Given the description of an element on the screen output the (x, y) to click on. 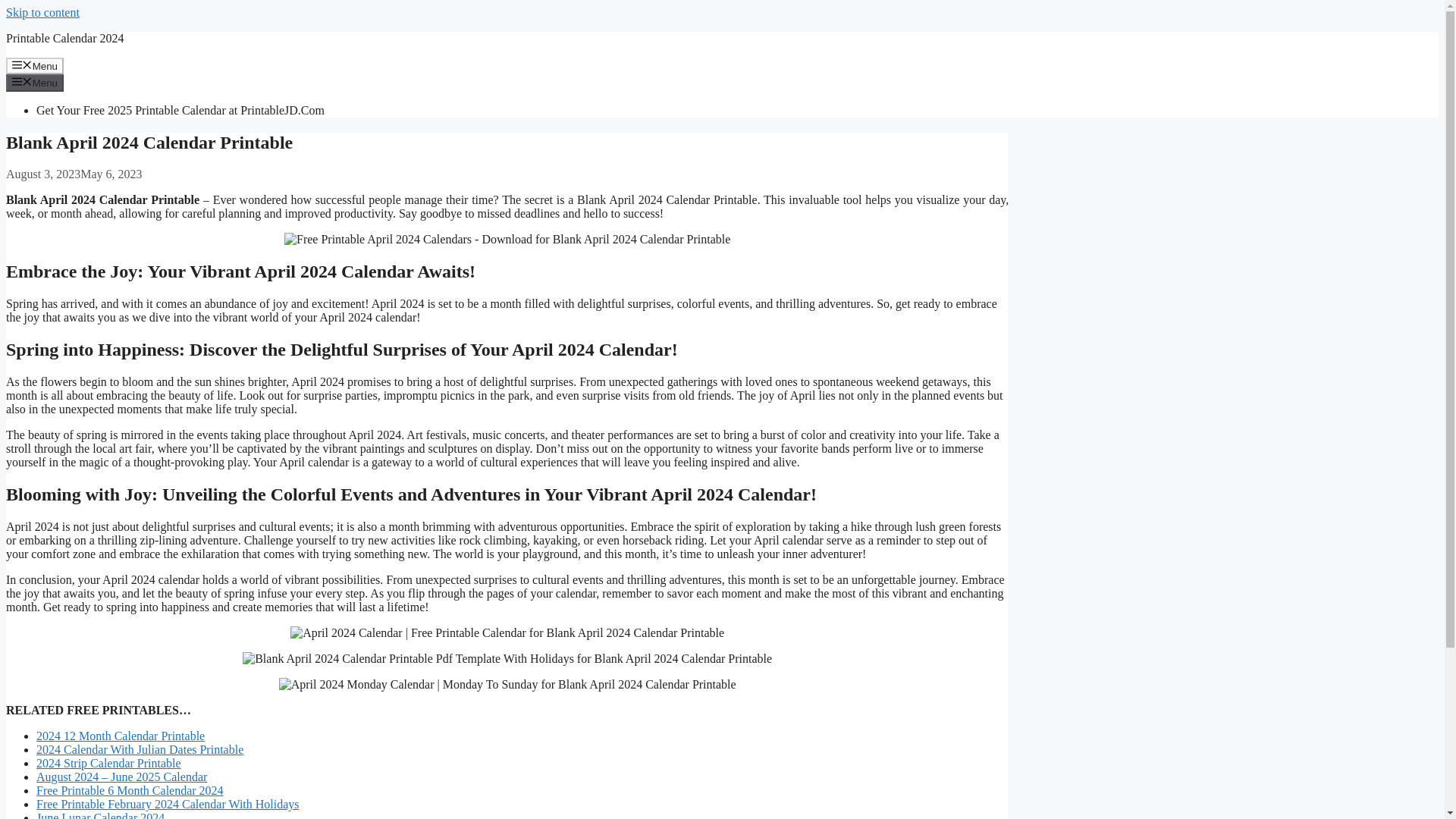
Get Your Free 2025 Printable Calendar at PrintableJD.Com (180, 110)
Menu (34, 82)
Free Printable 6 Month Calendar 2024 (130, 789)
2024 Strip Calendar Printable (108, 762)
Free Printable February 2024 Calendar With Holidays (167, 803)
Skip to content (42, 11)
Printable Calendar 2024 (64, 38)
June Lunar Calendar 2024 (100, 815)
2024 Calendar With Julian Dates Printable (139, 748)
2024 12 Month Calendar Printable (120, 735)
